Given the description of an element on the screen output the (x, y) to click on. 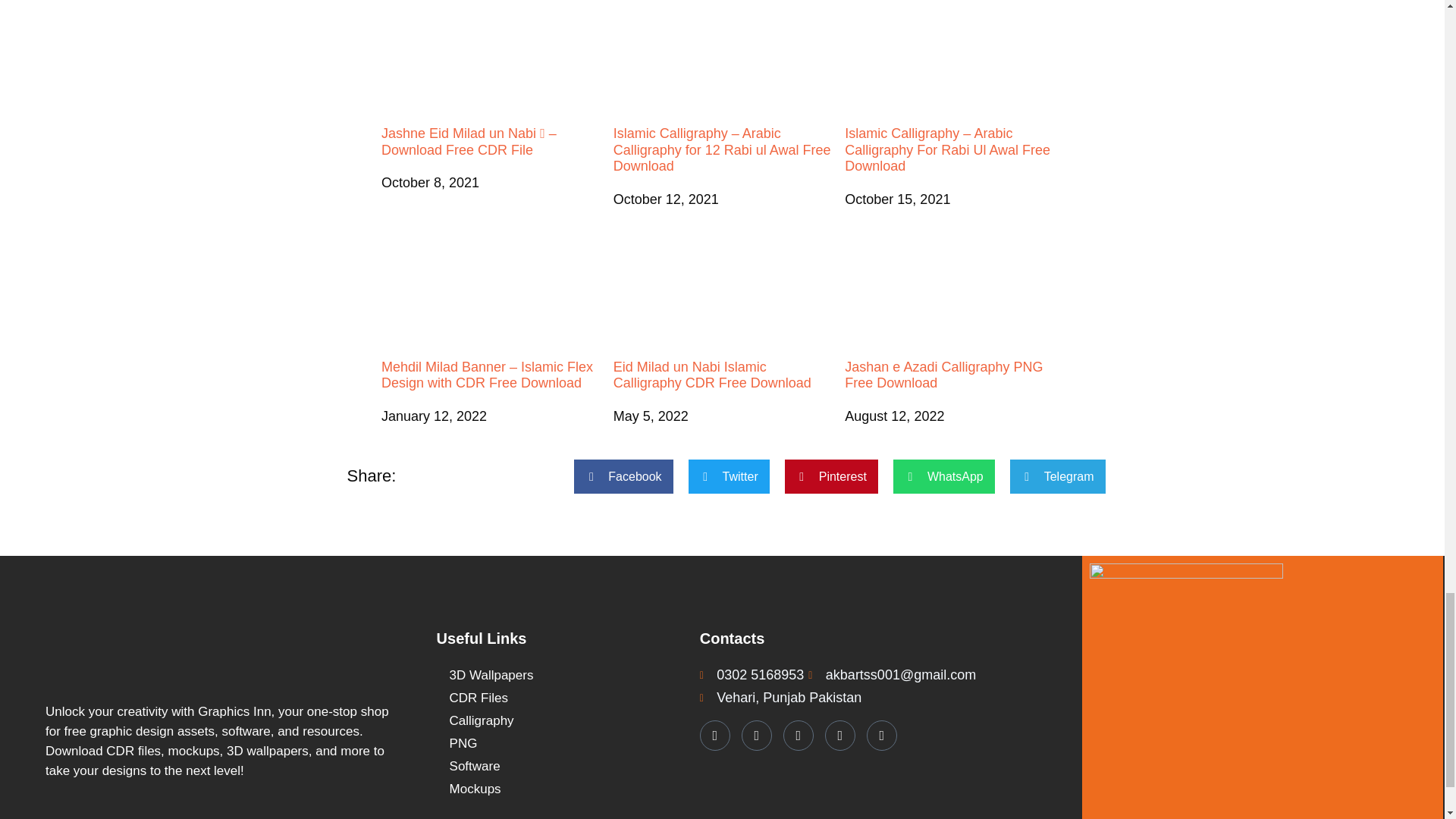
Calligraphy (560, 721)
3D Wallpapers (560, 675)
CDR Files (560, 698)
Jashan e Azadi Calligraphy PNG Free Download (953, 315)
Eid Milad un Nabi Islamic Calligraphy CDR Free Download (721, 315)
